Given the description of an element on the screen output the (x, y) to click on. 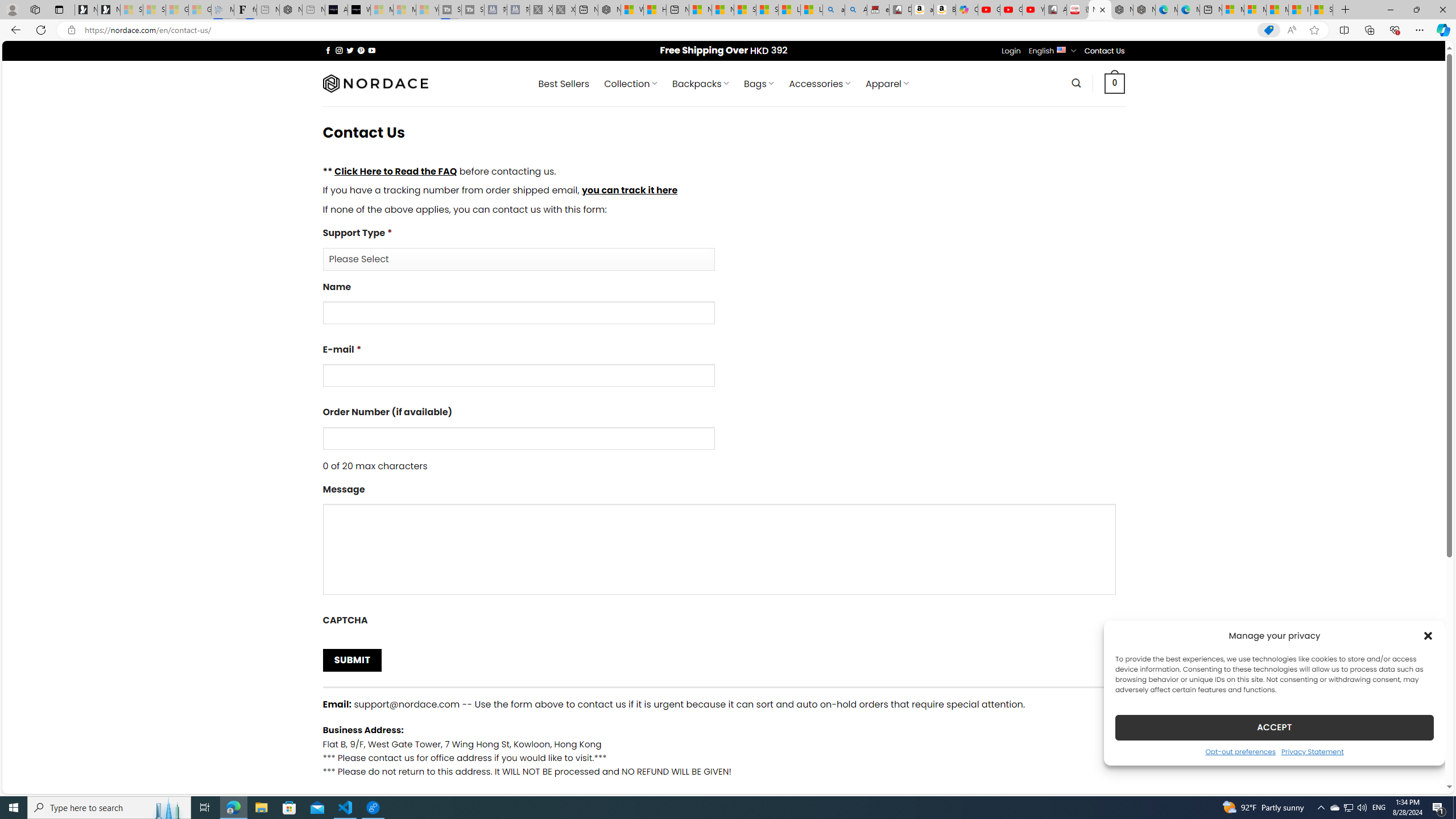
This site has coupons! Shopping in Microsoft Edge (1268, 29)
ACCEPT (1274, 727)
Microsoft Start Sports - Sleeping (381, 9)
